Given the description of an element on the screen output the (x, y) to click on. 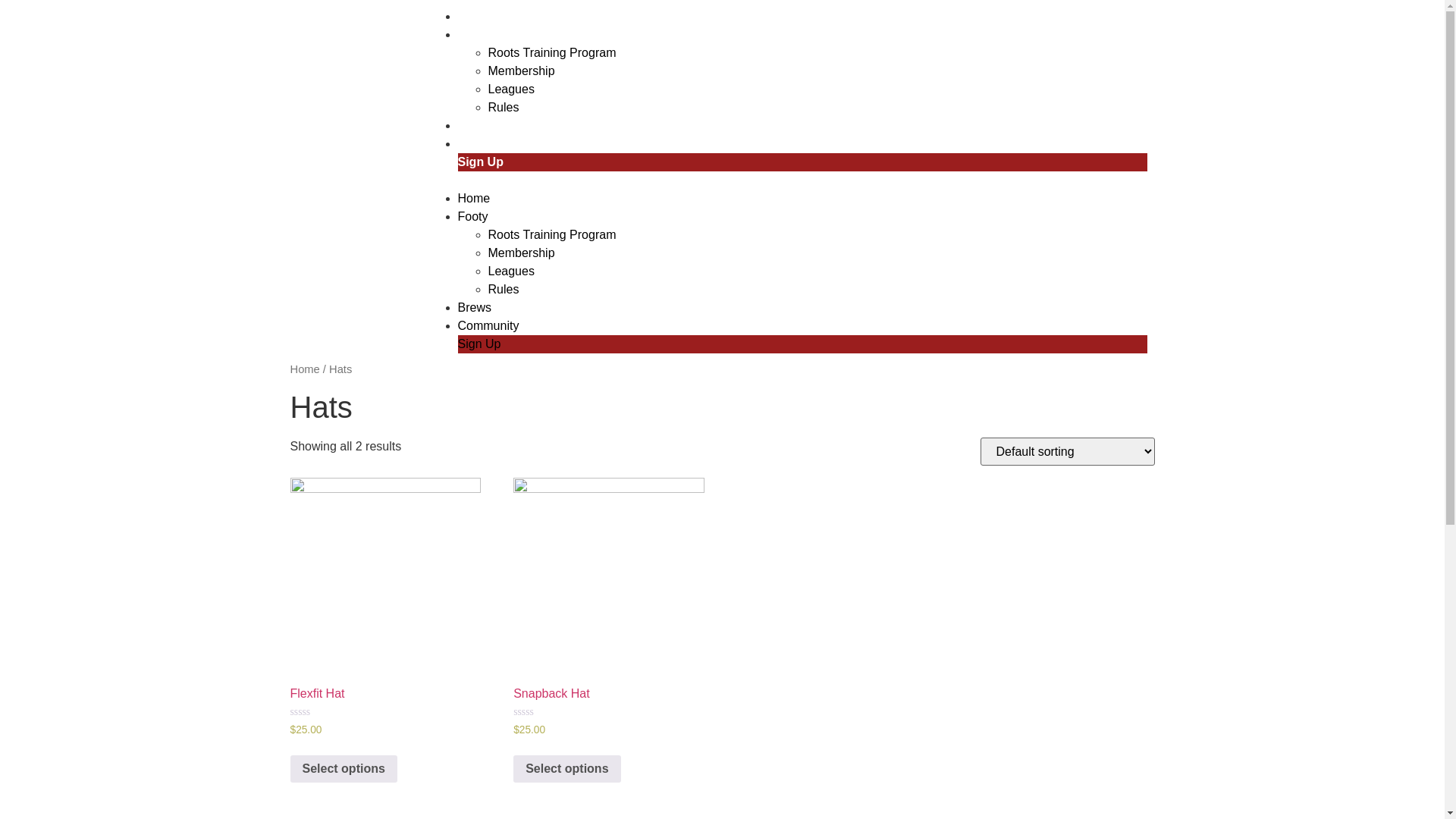
Footy Element type: text (474, 34)
Community Element type: text (488, 325)
Flexfit Hat
$25.00 Element type: text (384, 626)
Home Element type: text (474, 197)
Rules Element type: text (503, 288)
Sign Up Element type: text (480, 161)
Rules Element type: text (503, 106)
Leagues Element type: text (511, 270)
Sign Up Element type: text (479, 343)
Select options Element type: text (342, 768)
Home Element type: text (304, 369)
Roots Training Program Element type: text (552, 234)
Membership Element type: text (521, 70)
Home Element type: text (474, 15)
Brews Element type: text (476, 125)
Community Element type: text (491, 143)
Leagues Element type: text (511, 88)
Footy Element type: text (473, 216)
Brews Element type: text (474, 307)
Roots Training Program Element type: text (552, 52)
Snapback Hat
$25.00 Element type: text (608, 626)
Membership Element type: text (521, 252)
Select options Element type: text (566, 768)
